Given the description of an element on the screen output the (x, y) to click on. 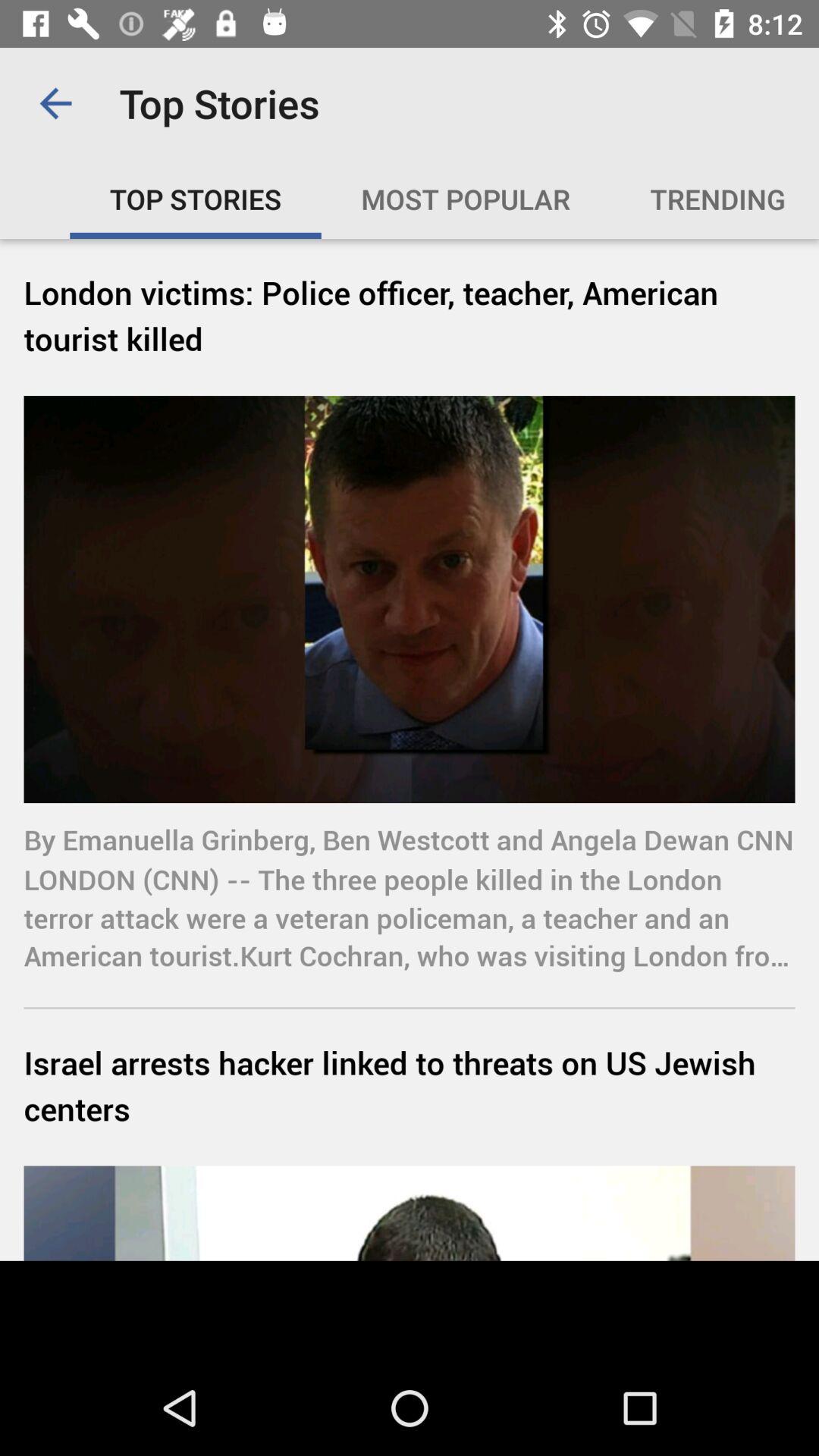
press item above top stories icon (55, 103)
